Given the description of an element on the screen output the (x, y) to click on. 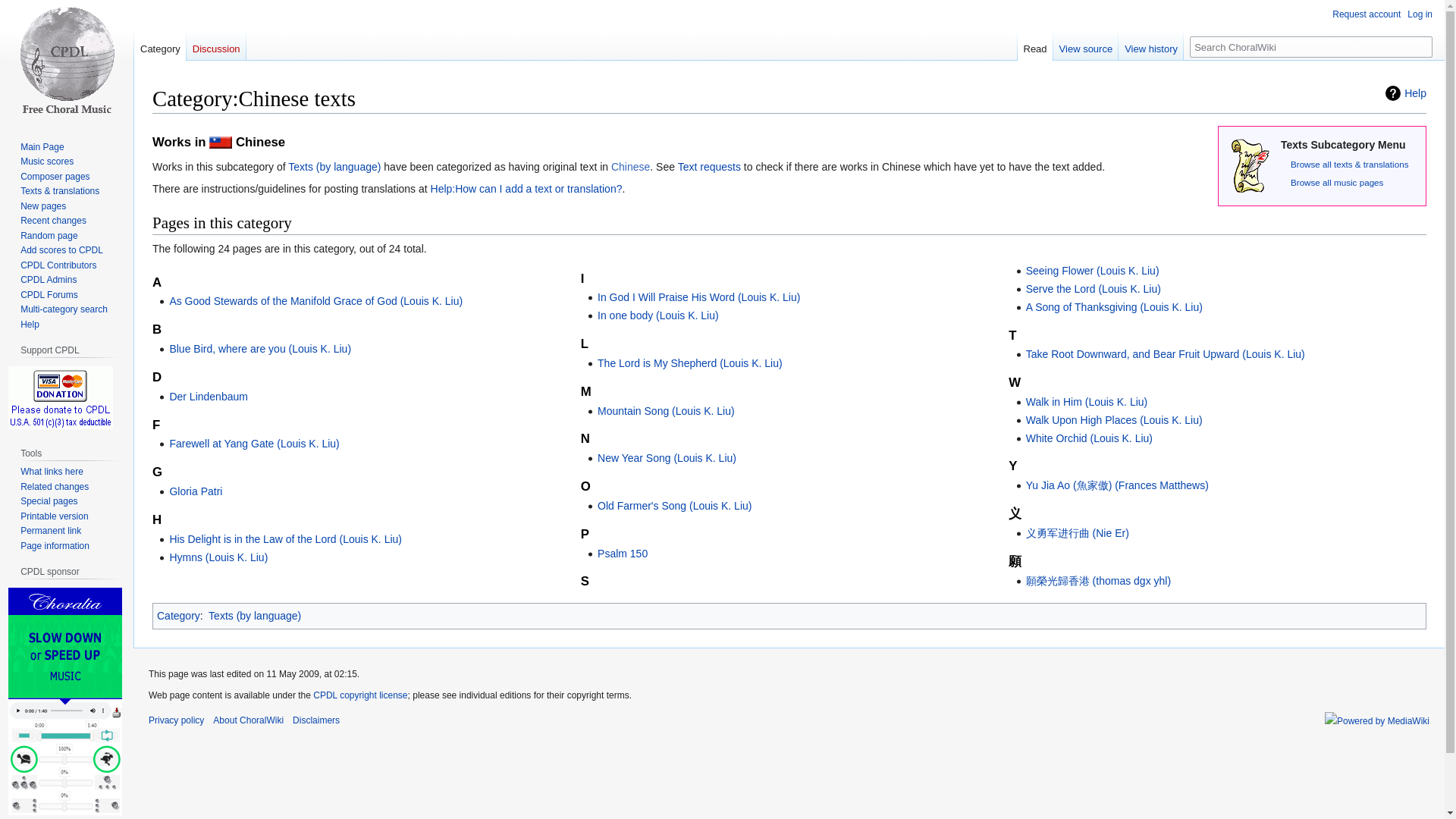
Chinese (630, 166)
Category:Sheet music (1336, 182)
Category (159, 45)
Go (1420, 46)
Der Lindenbaum (207, 396)
Text requests (709, 166)
Psalm 150 (621, 553)
Go (1420, 46)
Gloria Patri (195, 491)
Browse all music pages (1336, 182)
Help:How can I add a text or translation? (526, 188)
ChoralWiki:Text requests (709, 166)
Help:How can I add a text or translation? (526, 188)
Der Lindenbaum (207, 396)
